Given the description of an element on the screen output the (x, y) to click on. 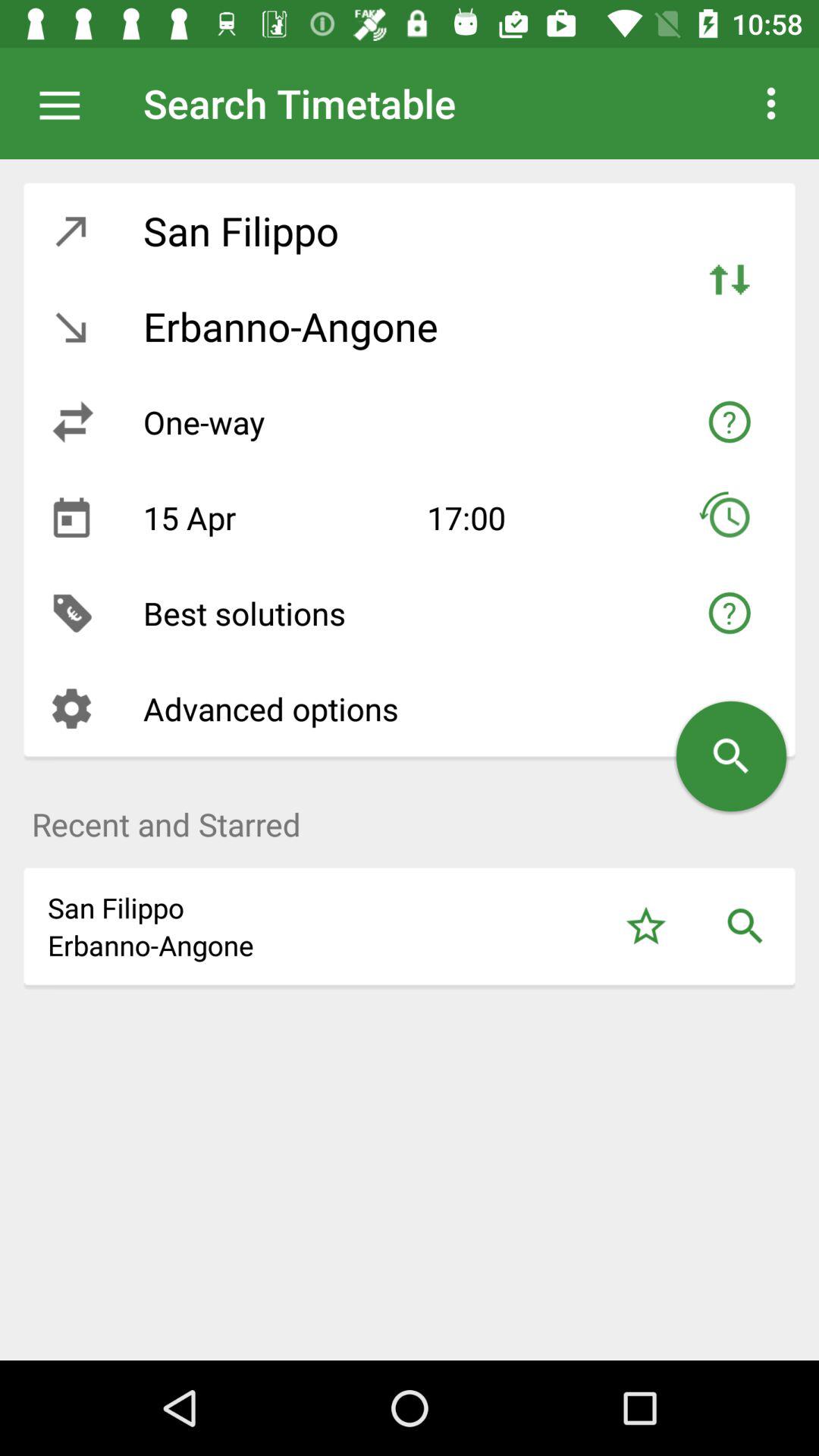
launch the app next to the search timetable (67, 103)
